Given the description of an element on the screen output the (x, y) to click on. 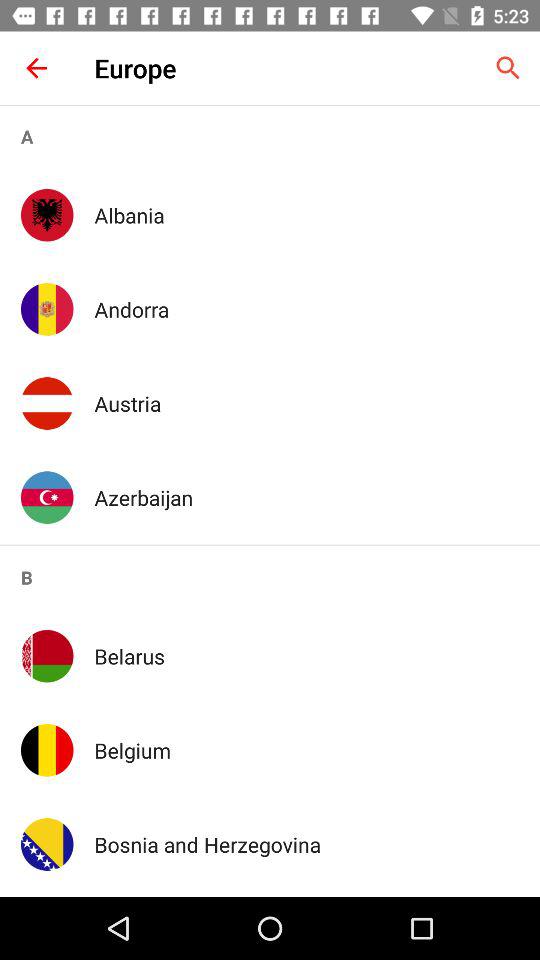
choose the app above andorra (306, 214)
